Given the description of an element on the screen output the (x, y) to click on. 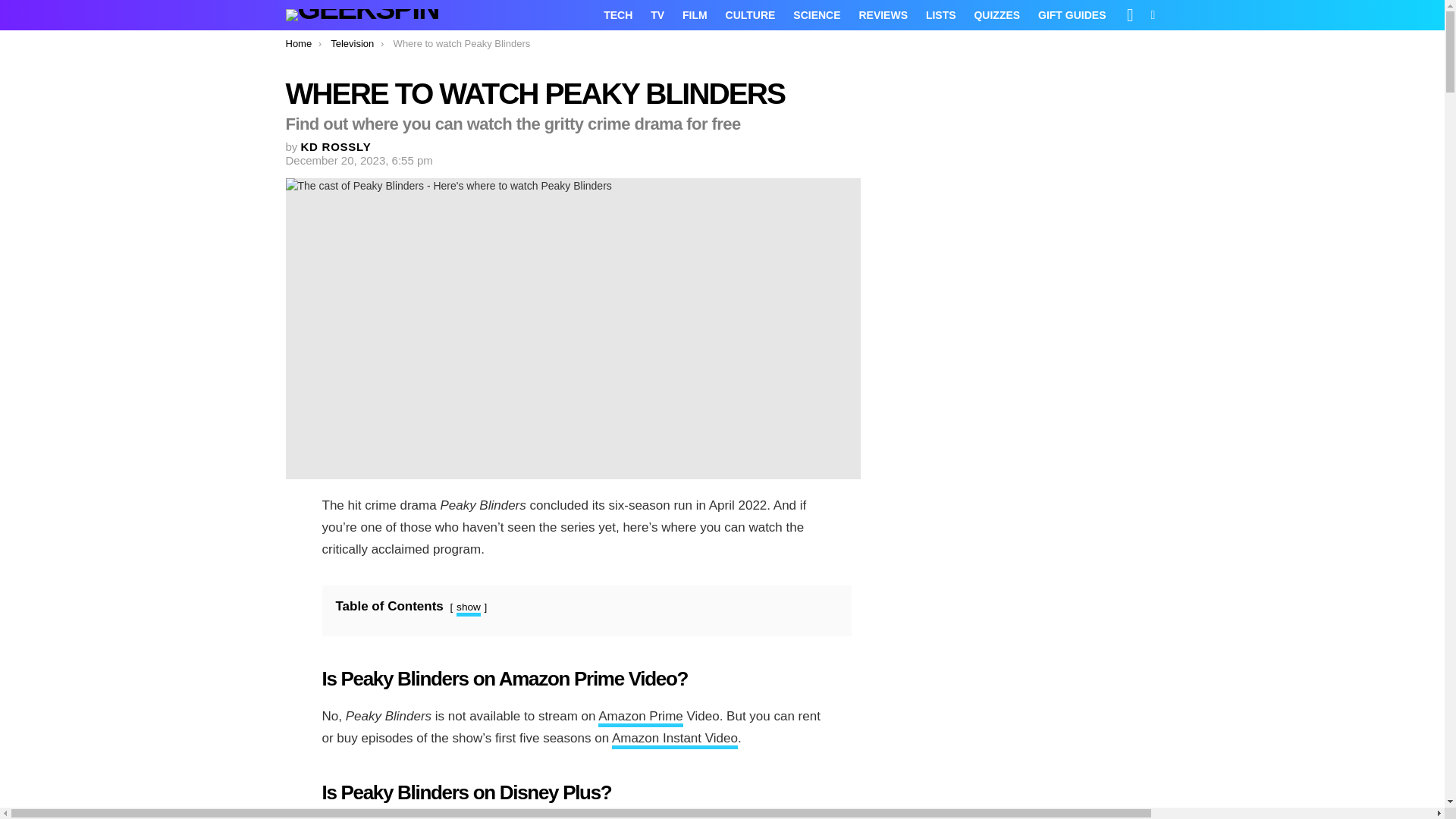
KD ROSSLY (336, 146)
show (468, 608)
Posts by KD Rossly (336, 146)
Home (298, 43)
SCIENCE (816, 15)
TECH (617, 15)
CULTURE (750, 15)
REVIEWS (882, 15)
FILM (694, 15)
